Given the description of an element on the screen output the (x, y) to click on. 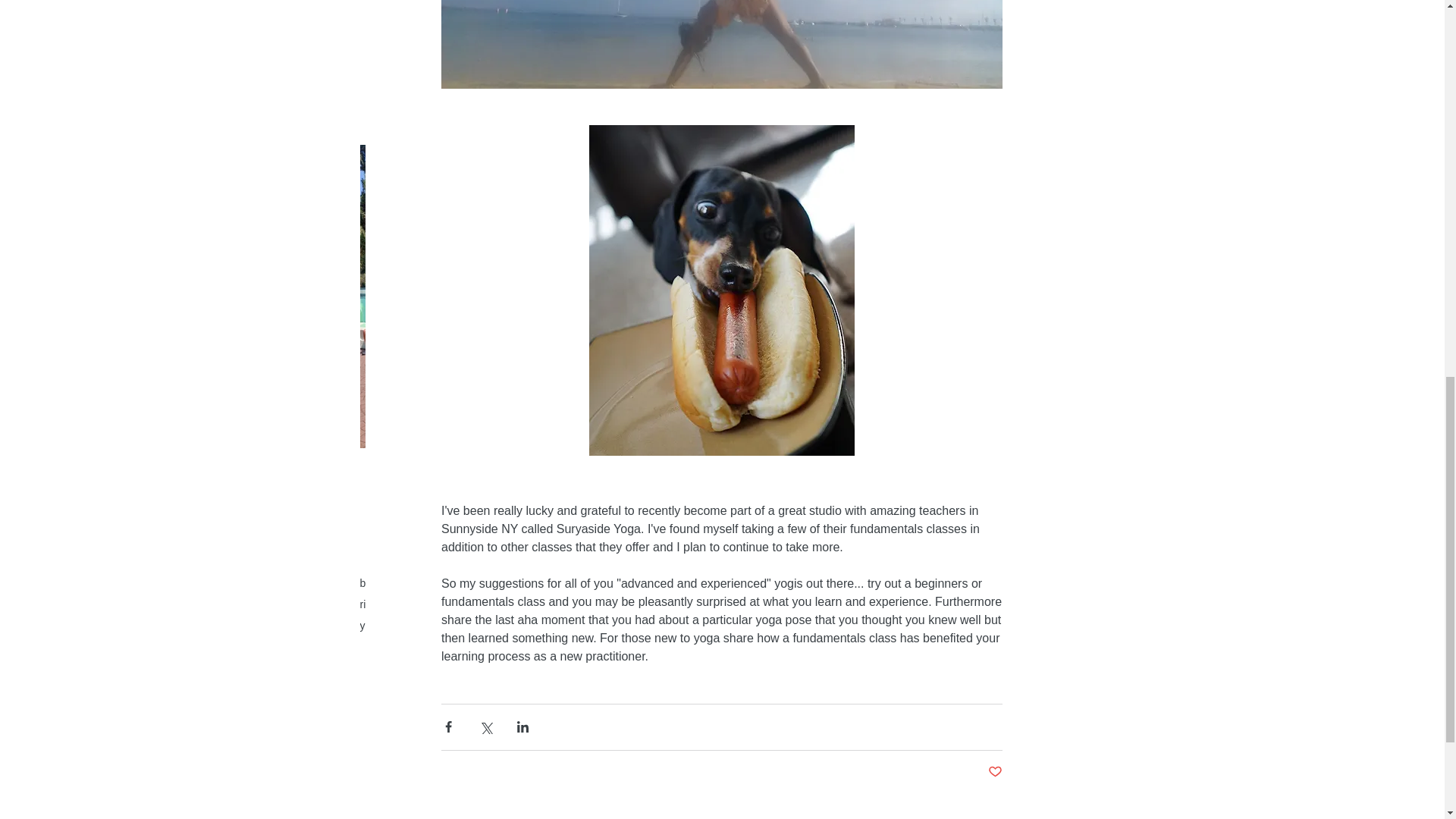
breathing (381, 582)
Vinyasa Yogashala (647, 604)
Mediation (784, 582)
Delhi (425, 582)
India (611, 582)
Indian Wedding (667, 582)
yoga teacher training (408, 625)
YTT (538, 625)
Ekam Yogashala (485, 582)
rishikesh (380, 604)
Mantras (733, 582)
Every Garden Begins With Cultivation. (958, 487)
yoga travel (493, 625)
yoga (712, 604)
